Given the description of an element on the screen output the (x, y) to click on. 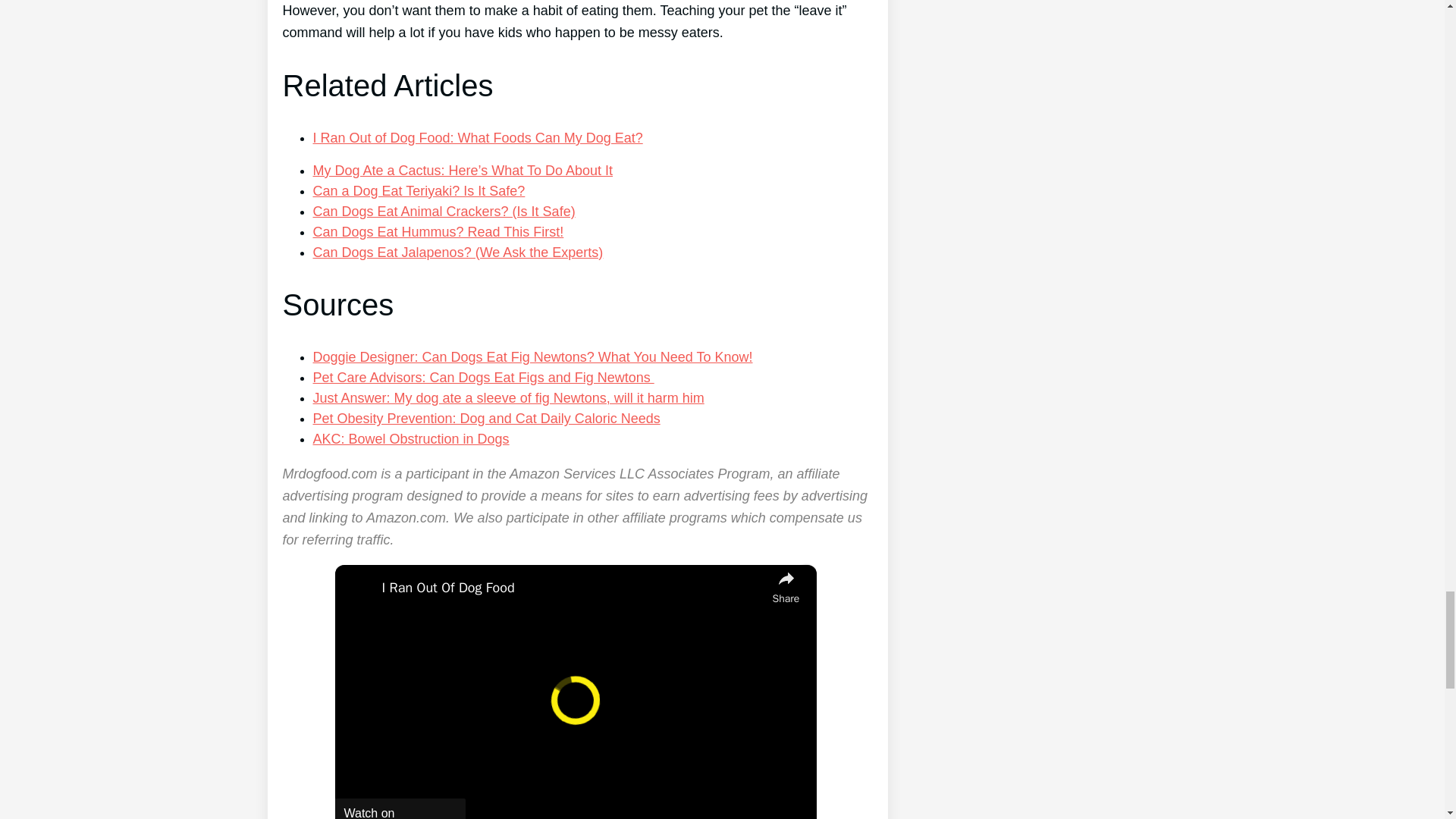
share (785, 584)
I Ran Out of Dog Food: What Foods Can My Dog Eat? (477, 137)
